Given the description of an element on the screen output the (x, y) to click on. 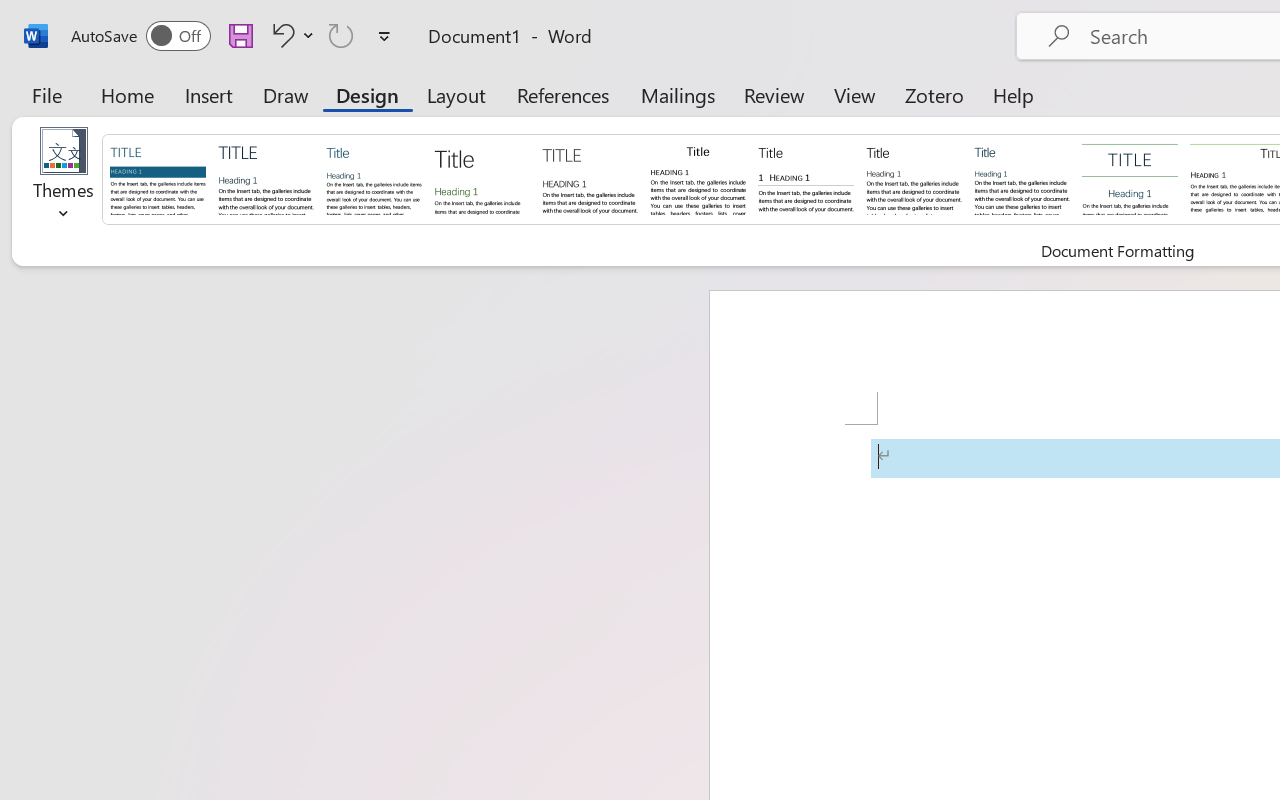
Undo Apply Quick Style (290, 35)
Can't Repeat (341, 35)
Basic (Elegant) (266, 178)
Undo Apply Quick Style (280, 35)
Basic (Simple) (373, 178)
Document (157, 178)
Black & White (Numbered) (806, 178)
